Given the description of an element on the screen output the (x, y) to click on. 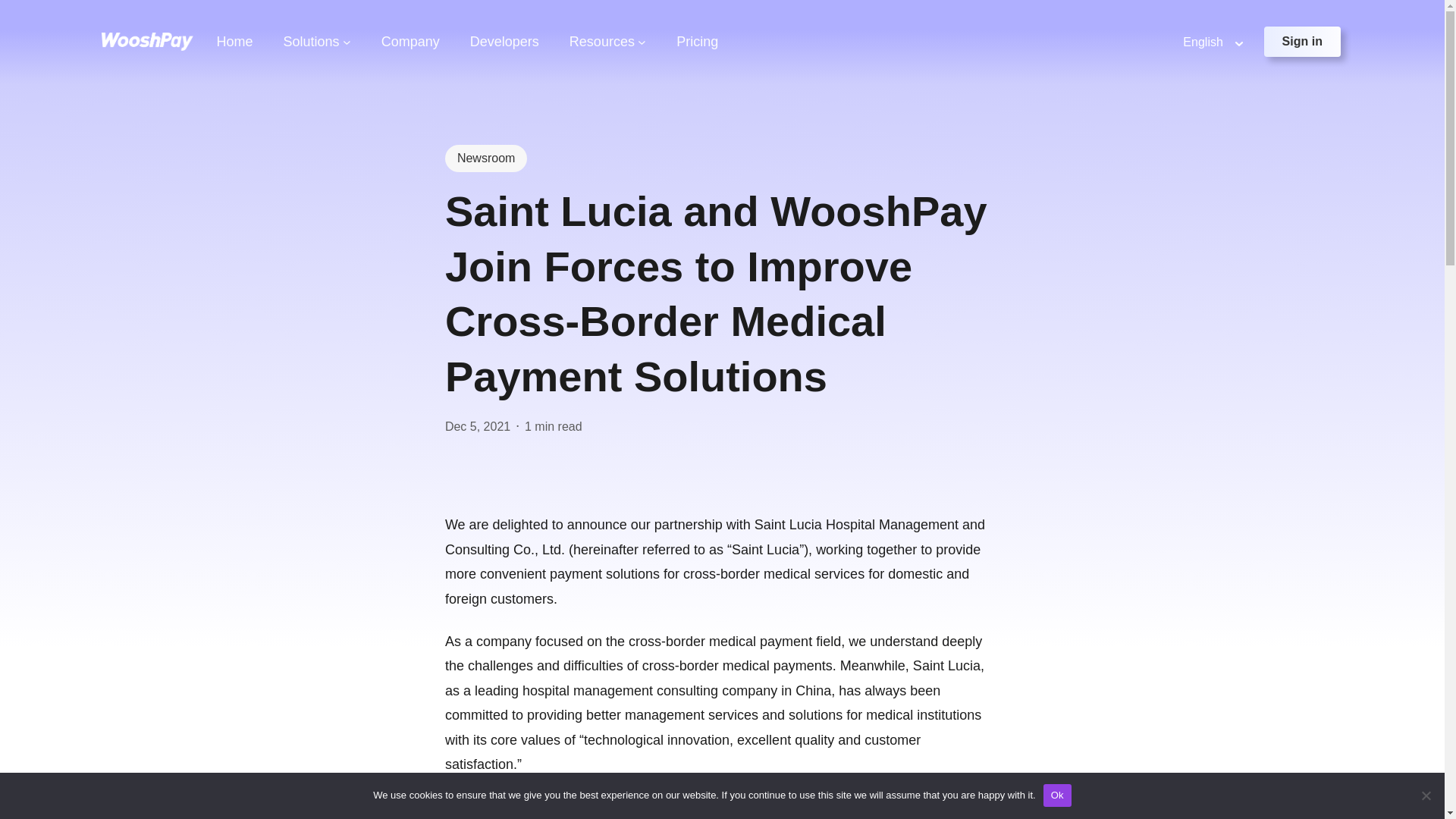
Newsroom (486, 157)
Home (233, 42)
Sign in (1301, 41)
Developers (504, 42)
Solutions (310, 42)
English (1202, 42)
Pricing (697, 42)
English (1202, 42)
Company (410, 42)
No (1425, 795)
Resources (601, 42)
